Given the description of an element on the screen output the (x, y) to click on. 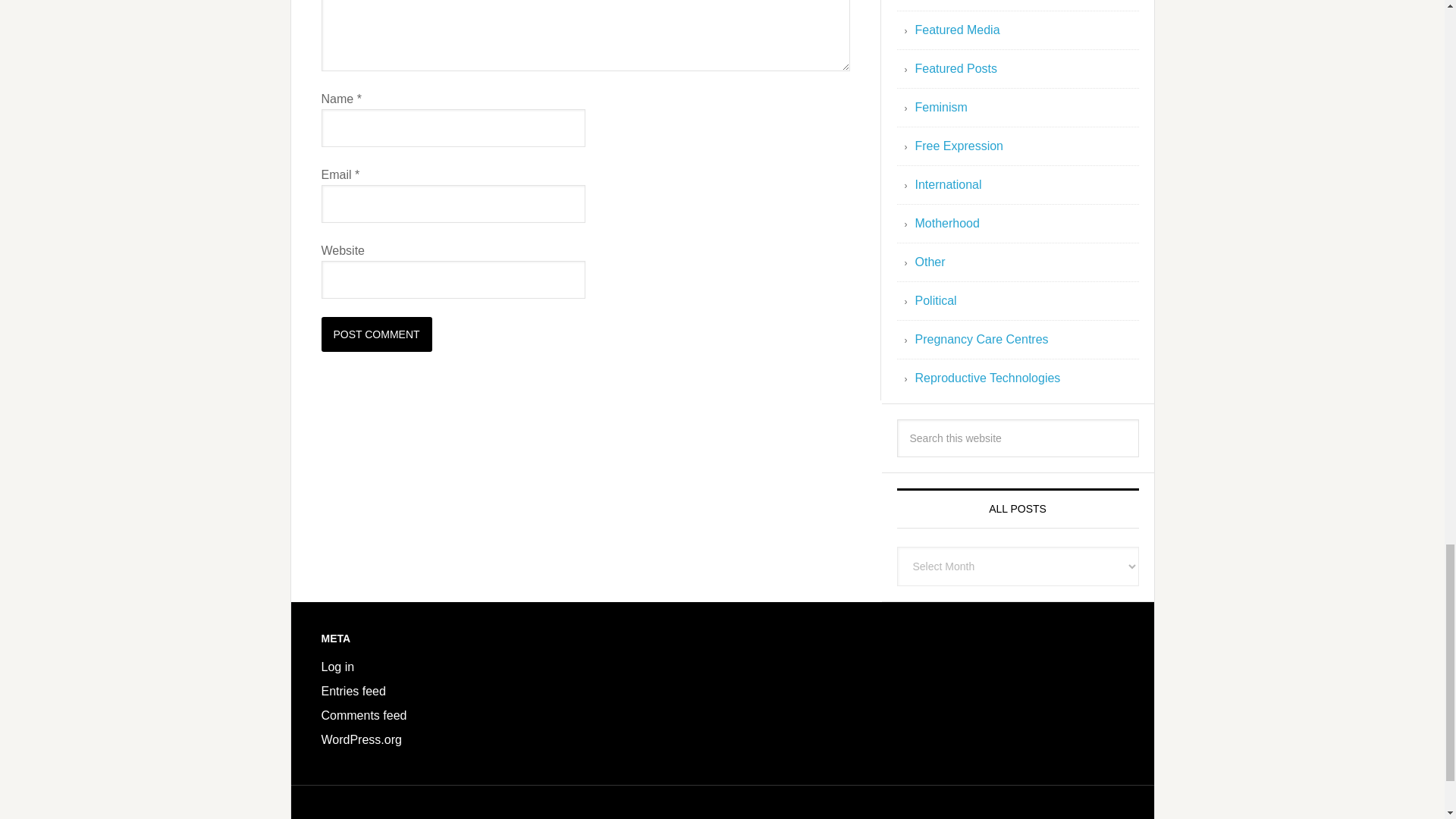
Post Comment (376, 334)
Post Comment (376, 334)
